Given the description of an element on the screen output the (x, y) to click on. 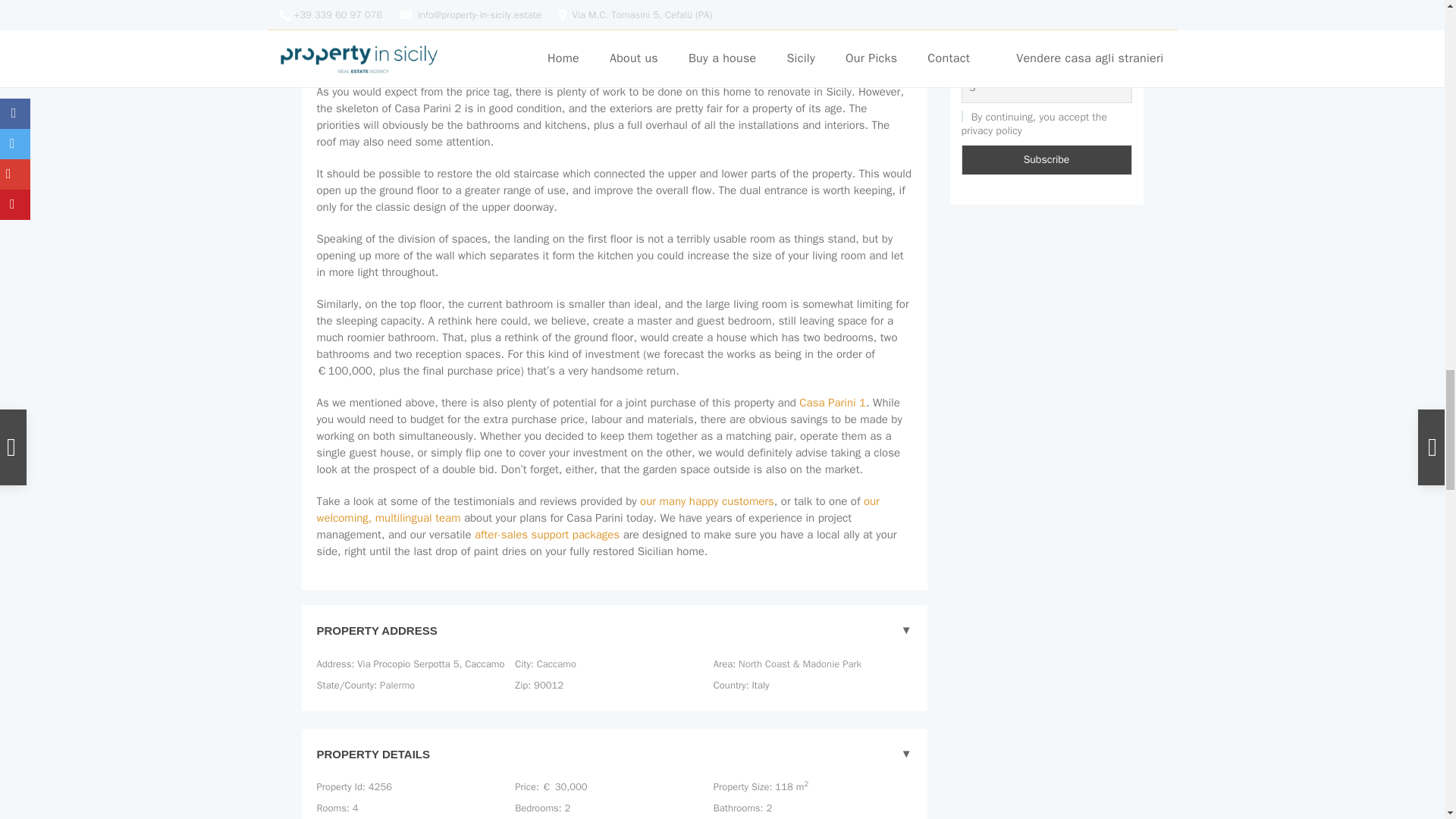
Subscribe (1046, 159)
